Given the description of an element on the screen output the (x, y) to click on. 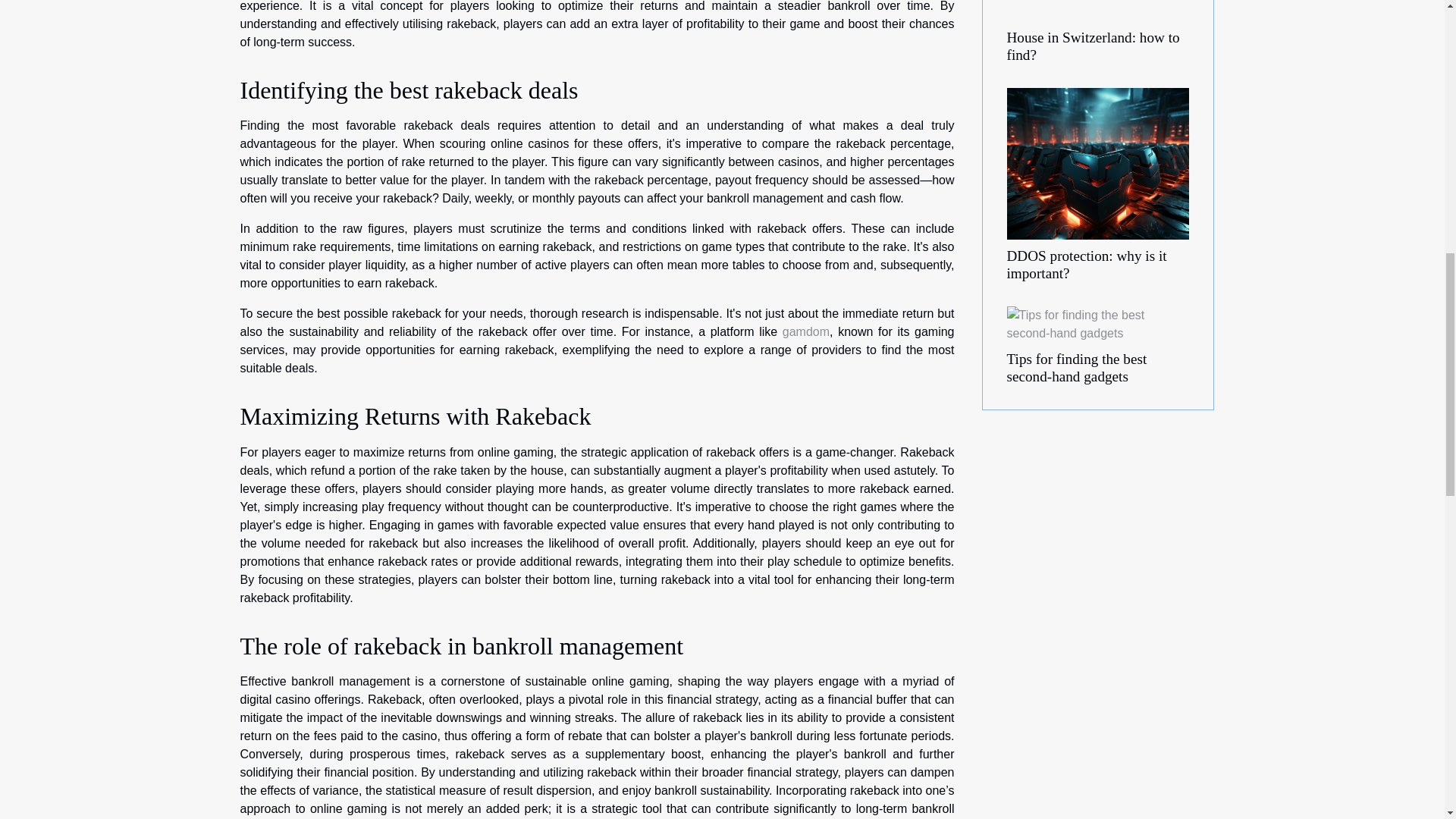
DDOS protection: why is it important? (1098, 162)
House in Switzerland: how to find? (1093, 46)
Tips for finding the best second-hand gadgets (1098, 323)
House in Switzerland: how to find? (1093, 46)
Tips for finding the best second-hand gadgets (1077, 367)
gamdom (806, 331)
Tips for finding the best second-hand gadgets (1077, 367)
DDOS protection: why is it important? (1087, 264)
DDOS protection: why is it important? (1087, 264)
